Given the description of an element on the screen output the (x, y) to click on. 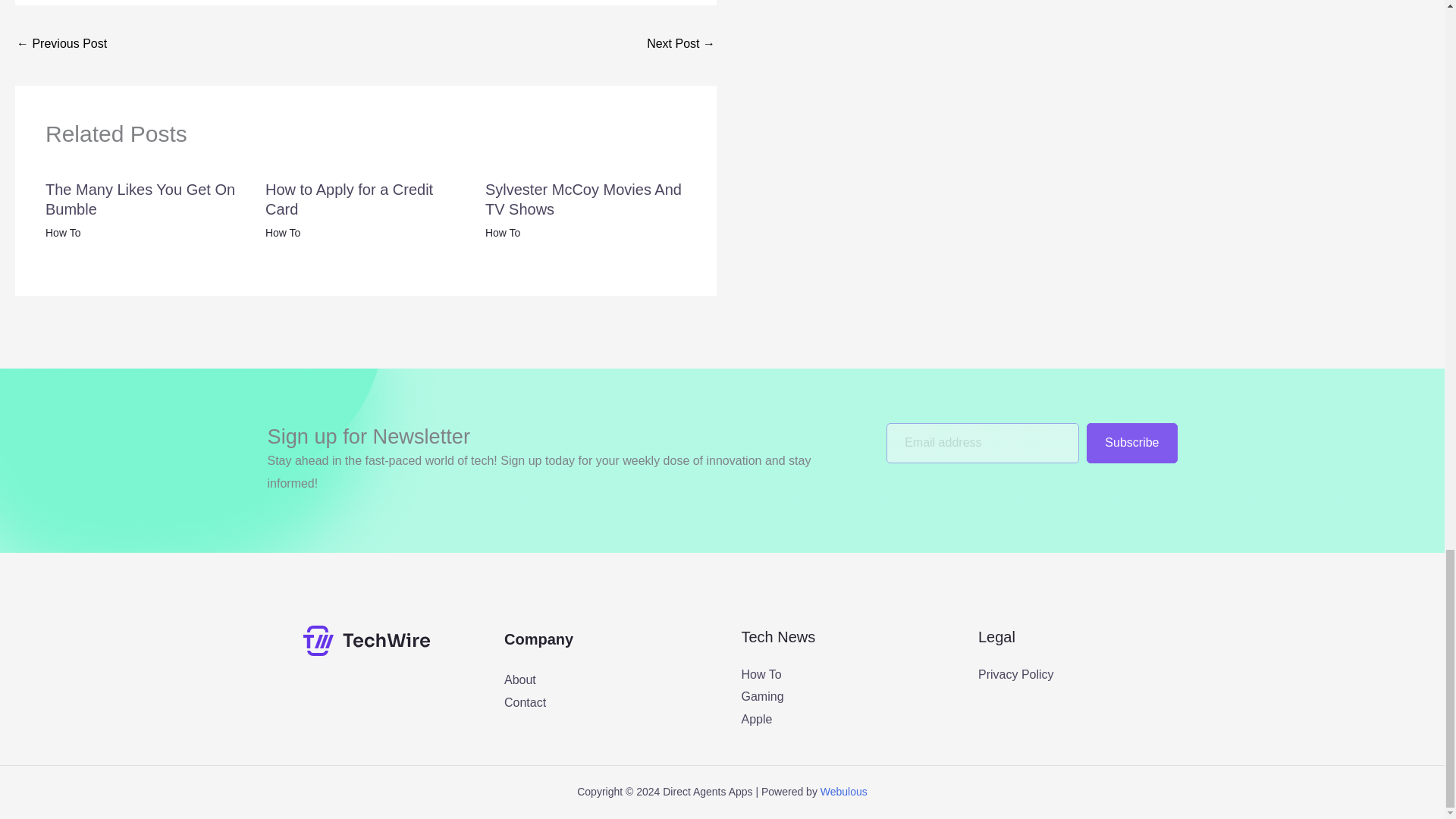
How To (281, 232)
Subscribe (1131, 443)
The Many Likes You Get On Bumble (139, 198)
How To (761, 674)
Sylvester McCoy Movies And TV Shows (582, 198)
Webulous (844, 791)
Contact (524, 702)
How to Apply for a Credit Card (348, 198)
Please fill in this field. (982, 443)
How to Remove Viruses from an iPad (61, 44)
How To Sign PDF With CAC (680, 44)
How To (62, 232)
Apple (757, 718)
Gaming (762, 696)
How To (501, 232)
